Given the description of an element on the screen output the (x, y) to click on. 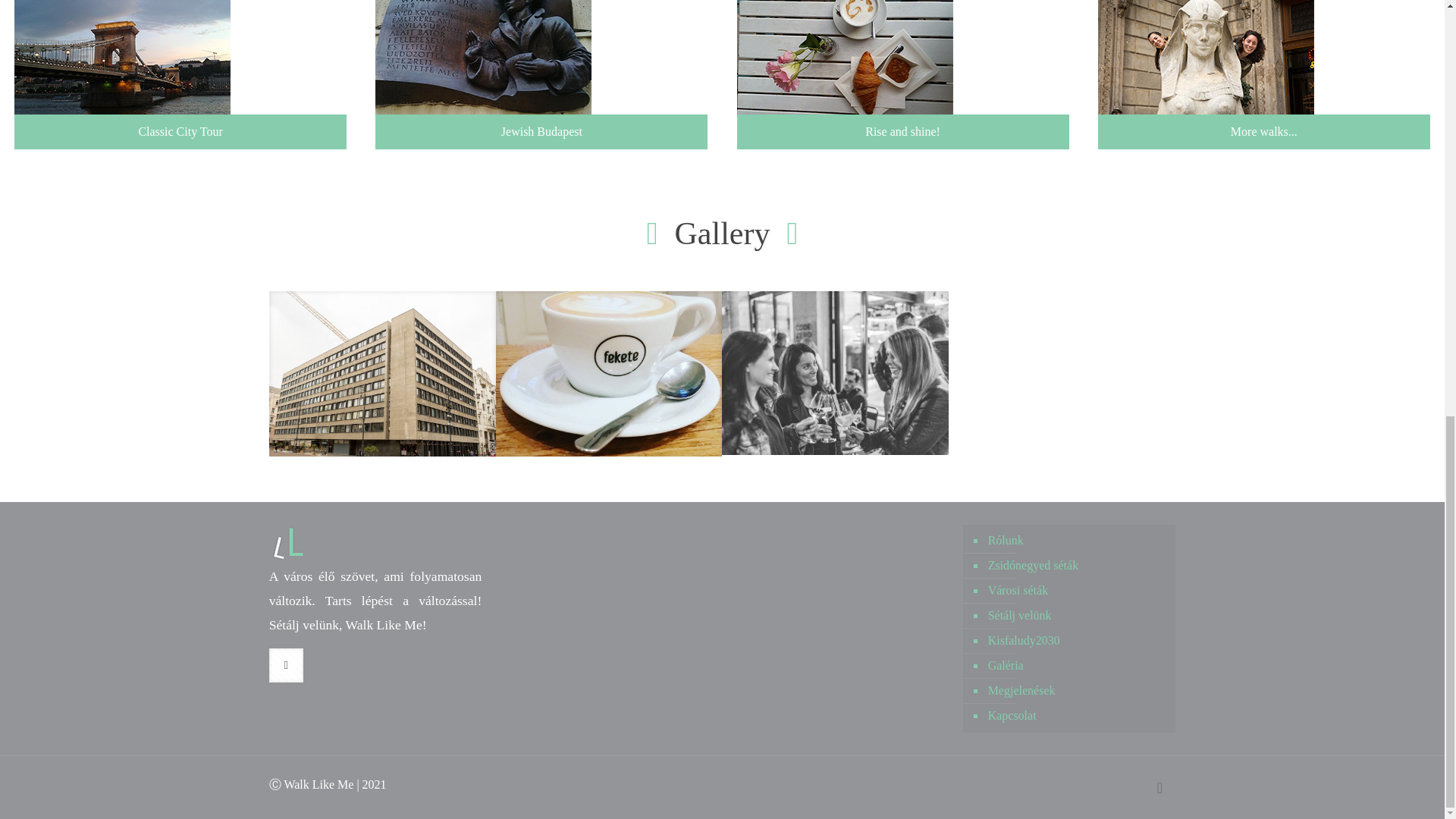
Rise and shine! (902, 74)
Kisfaludy2030 (1077, 640)
Jewish Budapest (541, 74)
Kapcsolat (1077, 715)
Classic City Tour (180, 74)
More walks... (1263, 74)
